Given the description of an element on the screen output the (x, y) to click on. 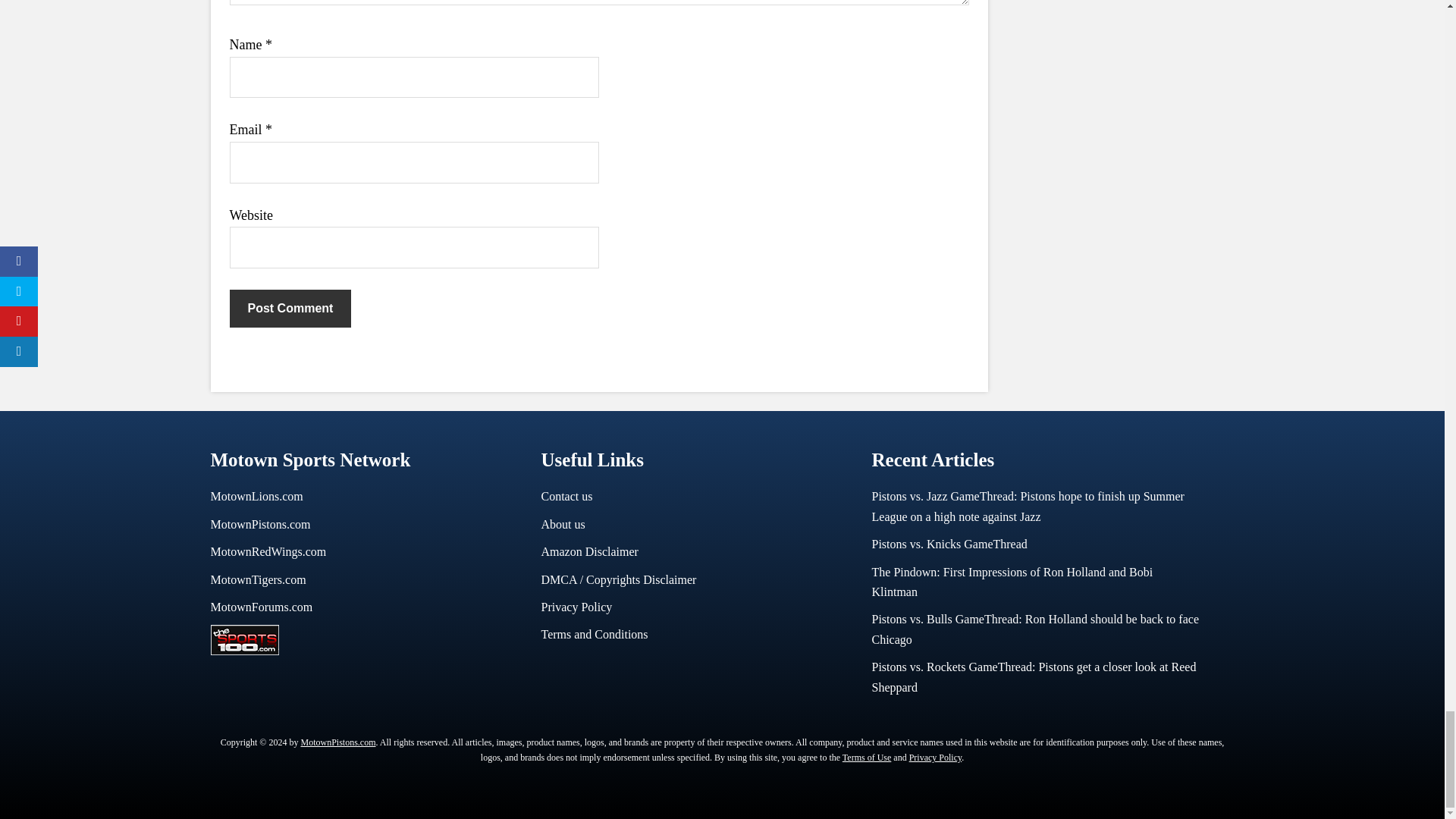
Post Comment (289, 308)
